Given the description of an element on the screen output the (x, y) to click on. 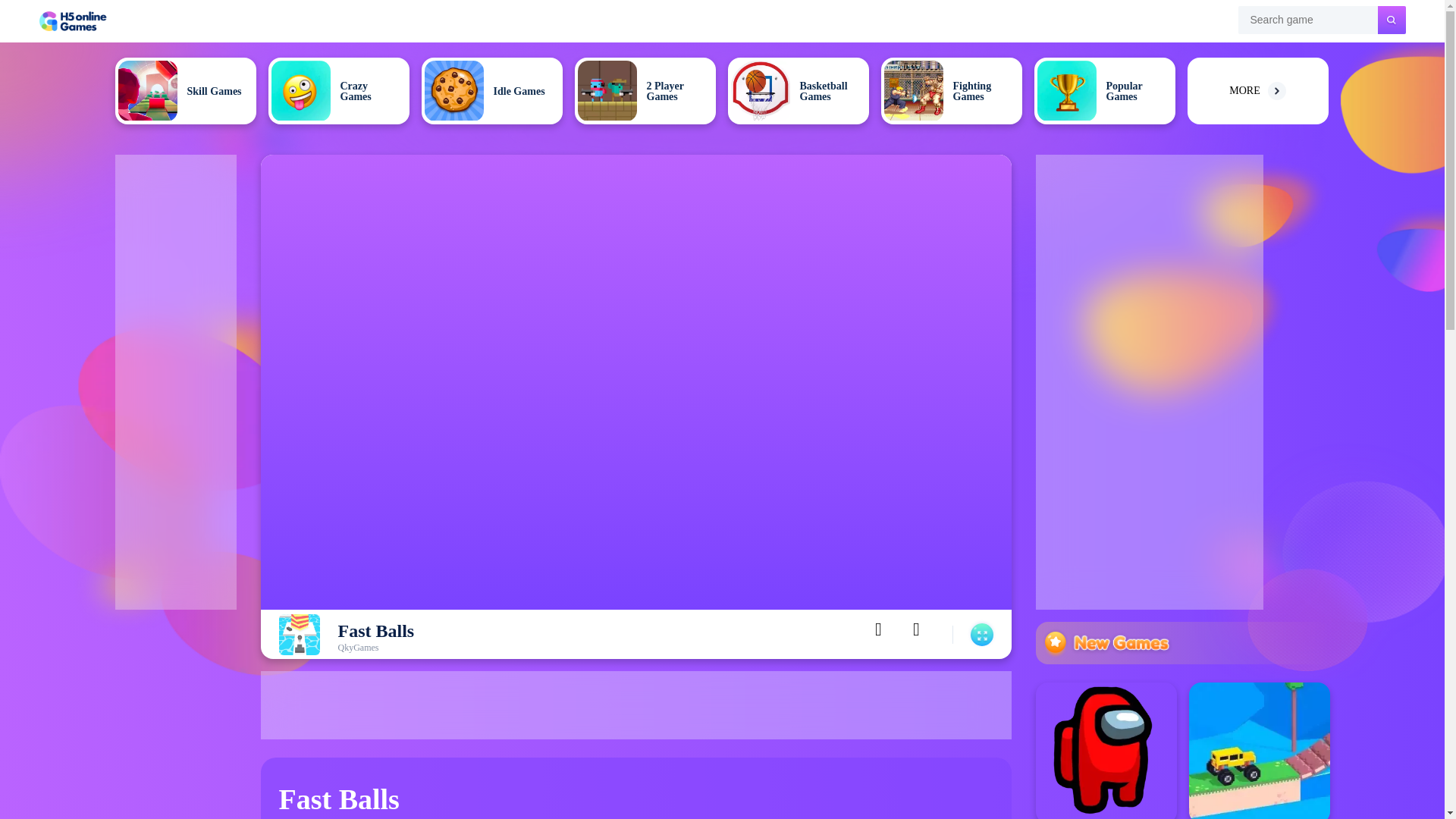
Popular Games (1103, 90)
Idle Games (492, 90)
Crazy Games (338, 90)
Fighting Games (951, 90)
Basketball Games (798, 90)
Skill Games (185, 90)
2 Player Games (645, 90)
